Given the description of an element on the screen output the (x, y) to click on. 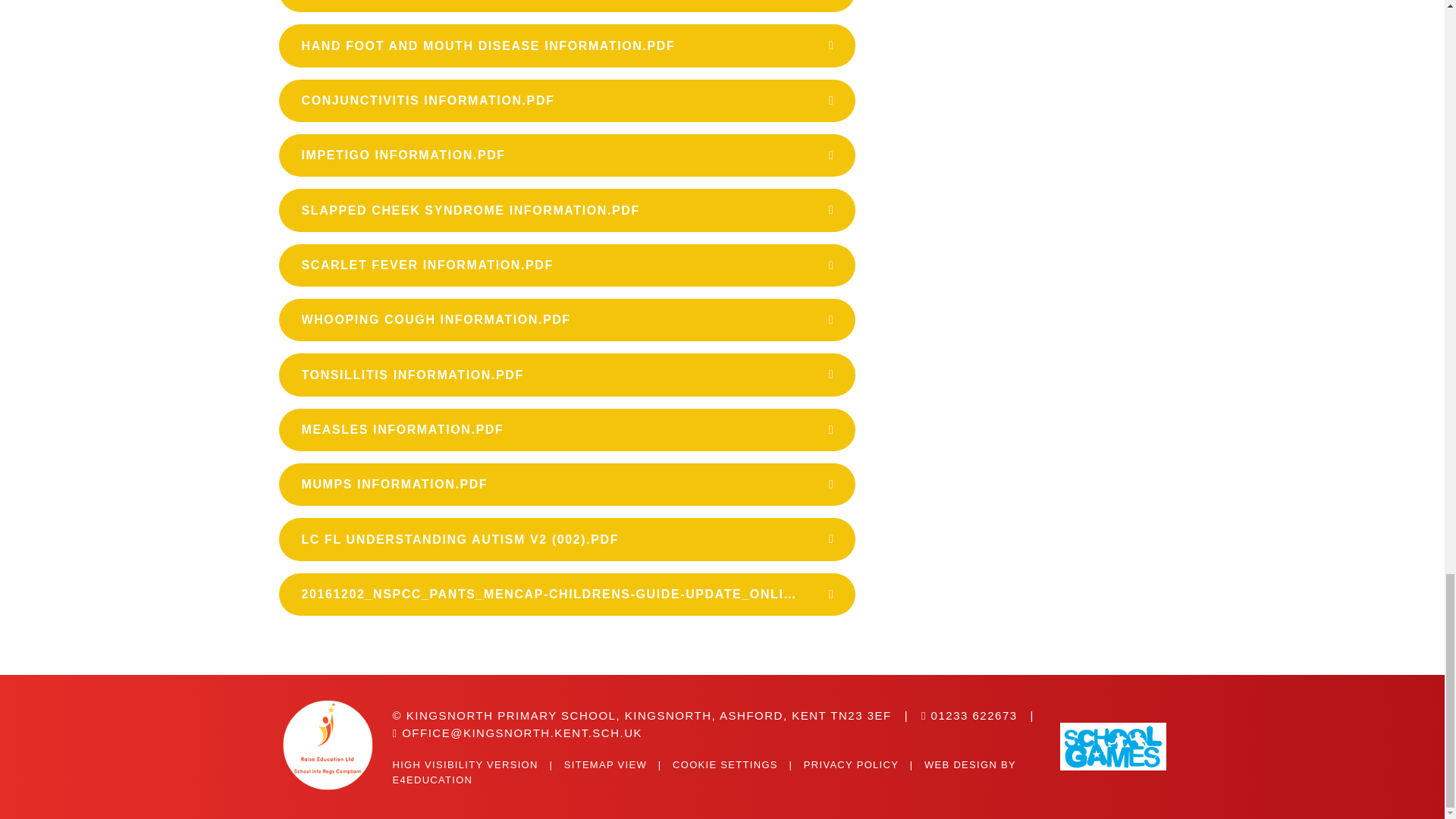
School Games (1112, 746)
Raise Education Ltd - School Info Regs Compliant (332, 746)
Cookie Settings (724, 764)
